Given the description of an element on the screen output the (x, y) to click on. 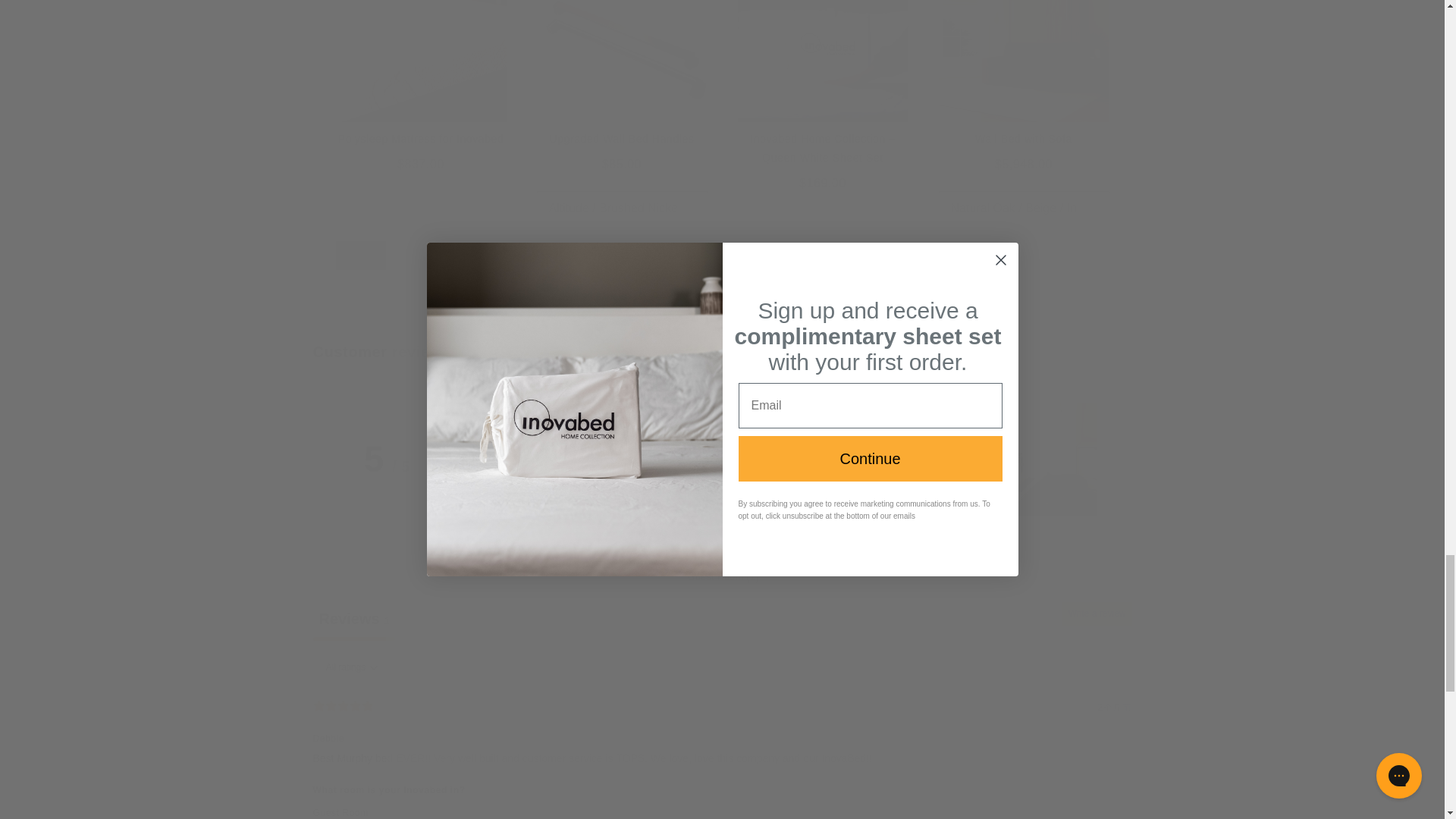
Select product variant (622, 208)
Select product variant (1024, 208)
